Given the description of an element on the screen output the (x, y) to click on. 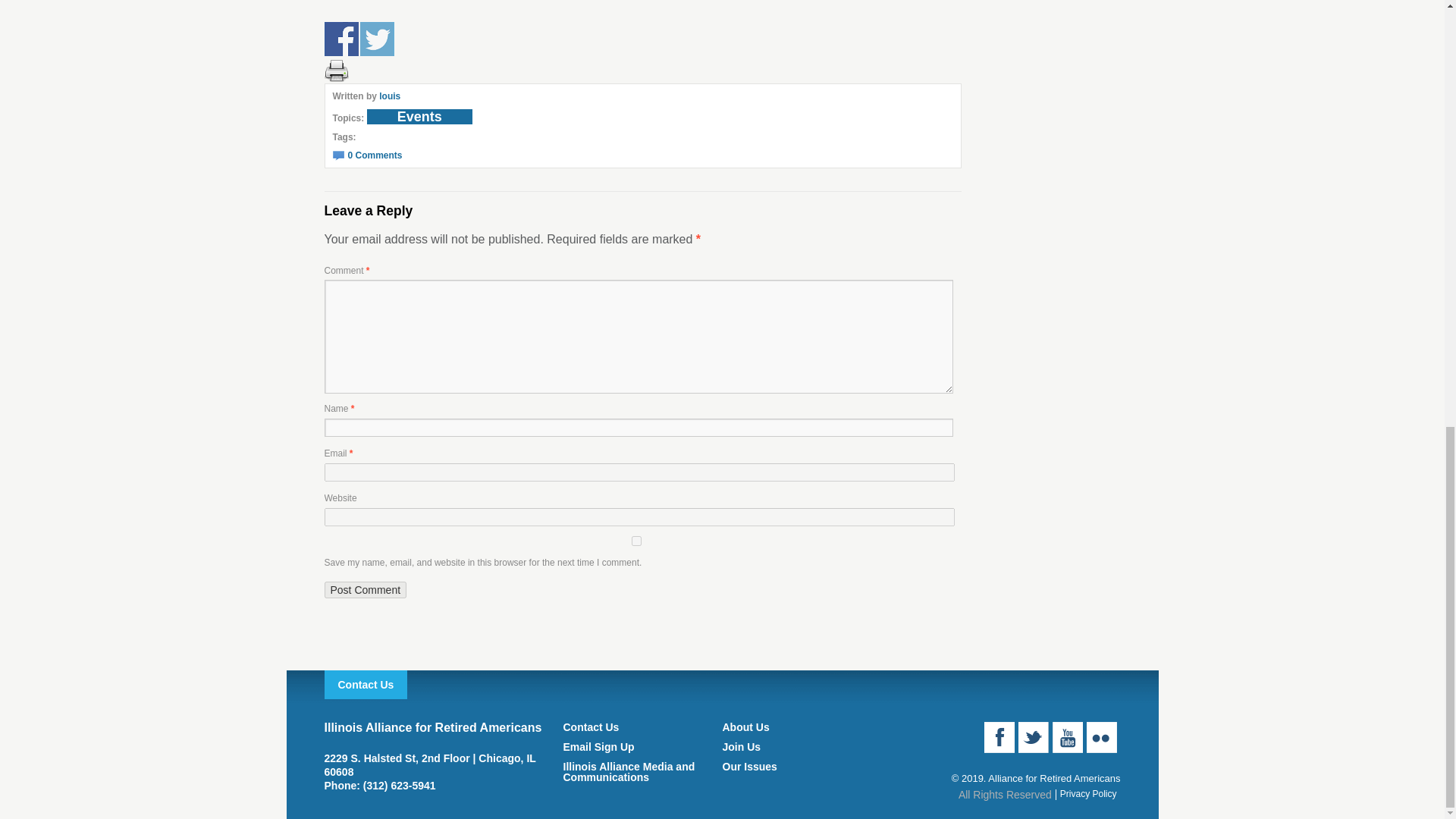
Post Comment (365, 589)
louis (389, 95)
yes (636, 541)
Events (418, 116)
Illinois Alliance Media and Communications (642, 771)
0 Comments (366, 154)
Email Sign Up (642, 747)
Contact Us (365, 684)
About Us (801, 726)
Contact Us (642, 726)
